Given the description of an element on the screen output the (x, y) to click on. 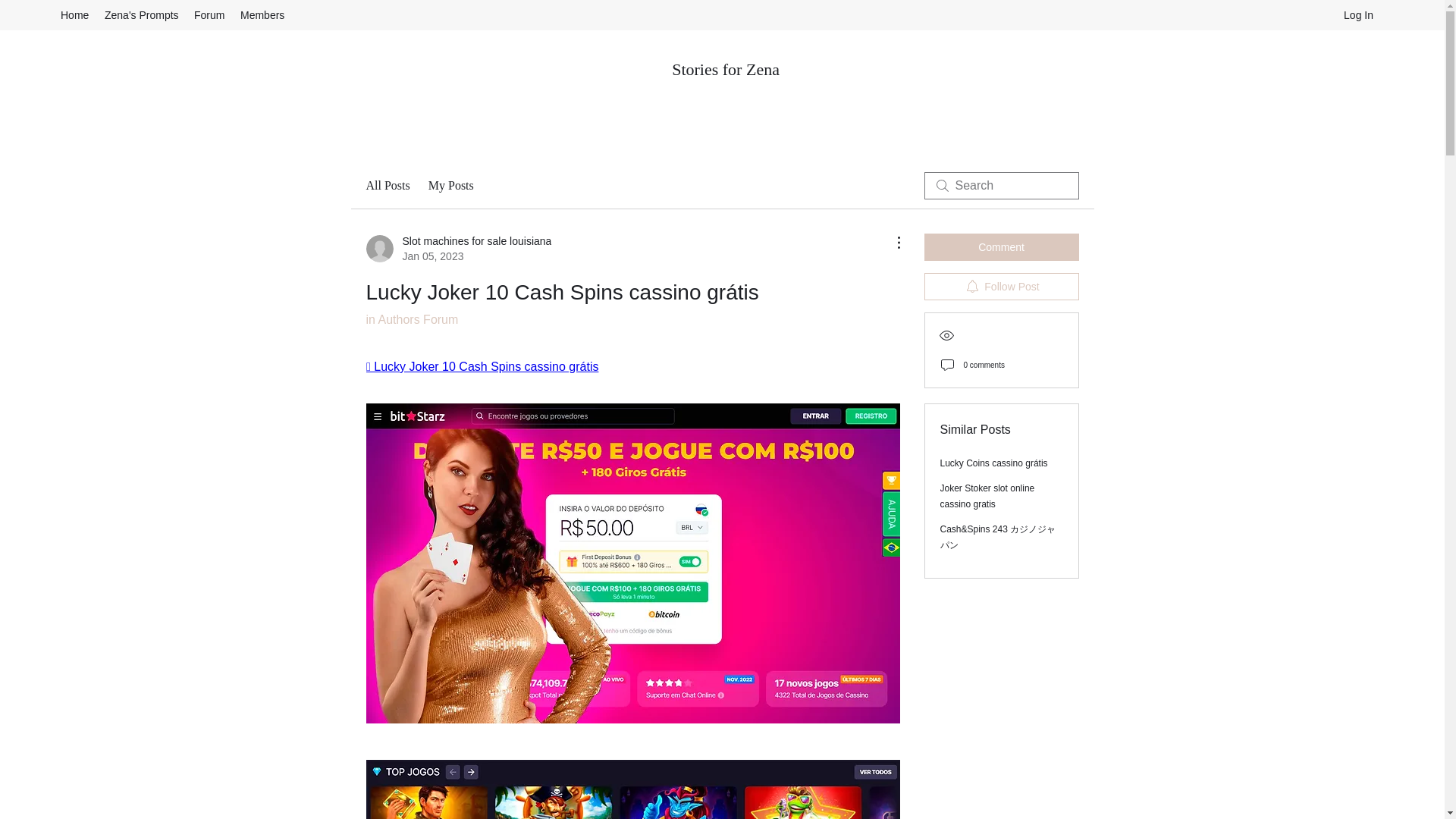
All Posts (387, 185)
Log In (1358, 15)
My Posts (451, 185)
in Authors Forum (411, 318)
Zena's Prompts (141, 15)
Joker Stoker slot online cassino gratis (987, 496)
Follow Post (1000, 286)
Comment (1000, 247)
Home (74, 15)
Forum (209, 15)
Stories for Zena (724, 68)
Members (458, 248)
